Given the description of an element on the screen output the (x, y) to click on. 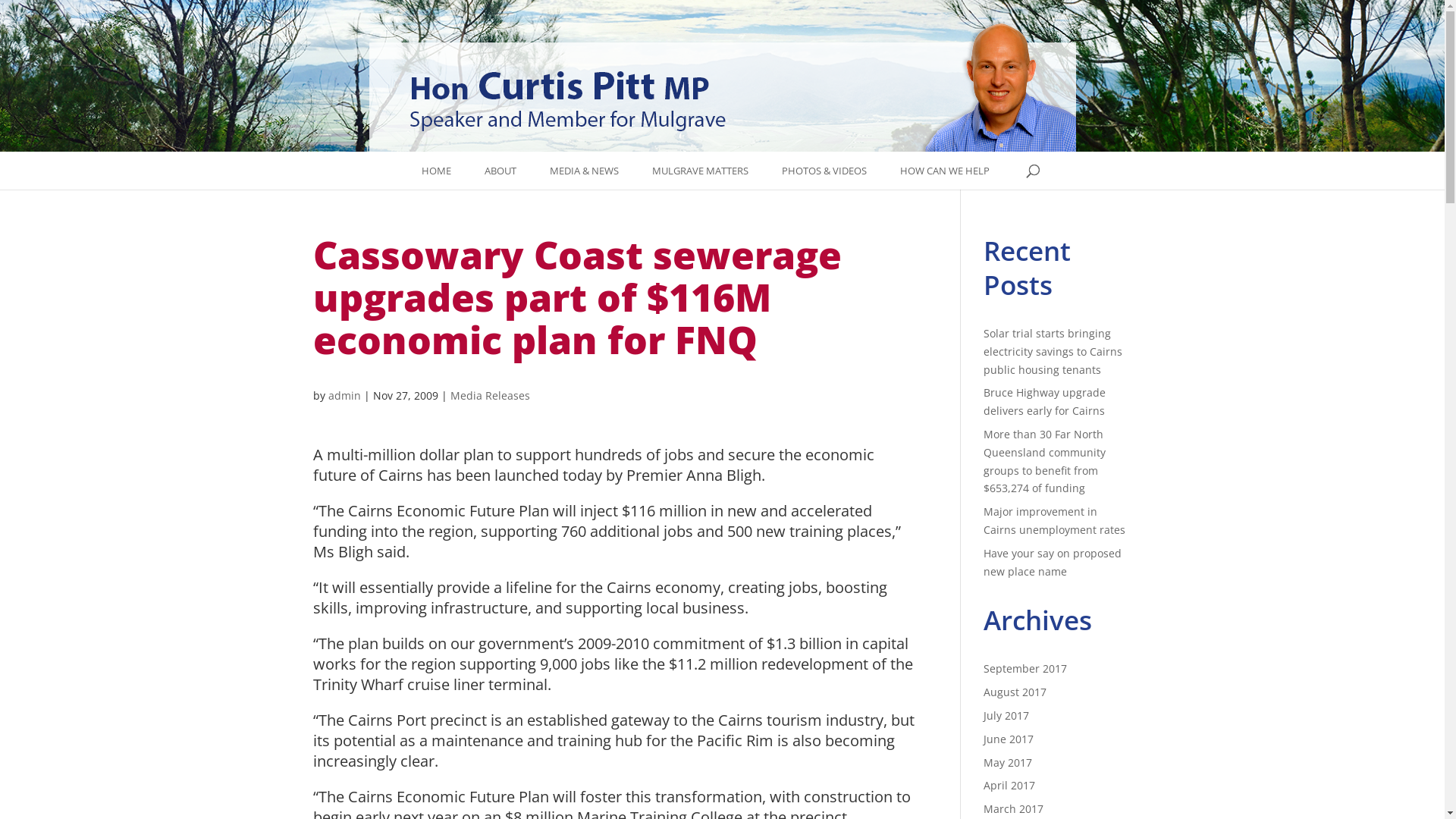
ABOUT Element type: text (500, 170)
HOW CAN WE HELP Element type: text (944, 170)
PHOTOS & VIDEOS Element type: text (823, 170)
May 2017 Element type: text (1007, 762)
Media Releases Element type: text (490, 395)
MULGRAVE MATTERS Element type: text (700, 170)
HOME Element type: text (436, 170)
August 2017 Element type: text (1014, 691)
admin Element type: text (343, 395)
July 2017 Element type: text (1006, 715)
Have your say on proposed new place name Element type: text (1052, 562)
March 2017 Element type: text (1013, 808)
April 2017 Element type: text (1009, 785)
MEDIA & NEWS Element type: text (583, 170)
June 2017 Element type: text (1008, 738)
September 2017 Element type: text (1024, 668)
Major improvement in Cairns unemployment rates Element type: text (1054, 520)
Bruce Highway upgrade delivers early for Cairns Element type: text (1044, 401)
